Given the description of an element on the screen output the (x, y) to click on. 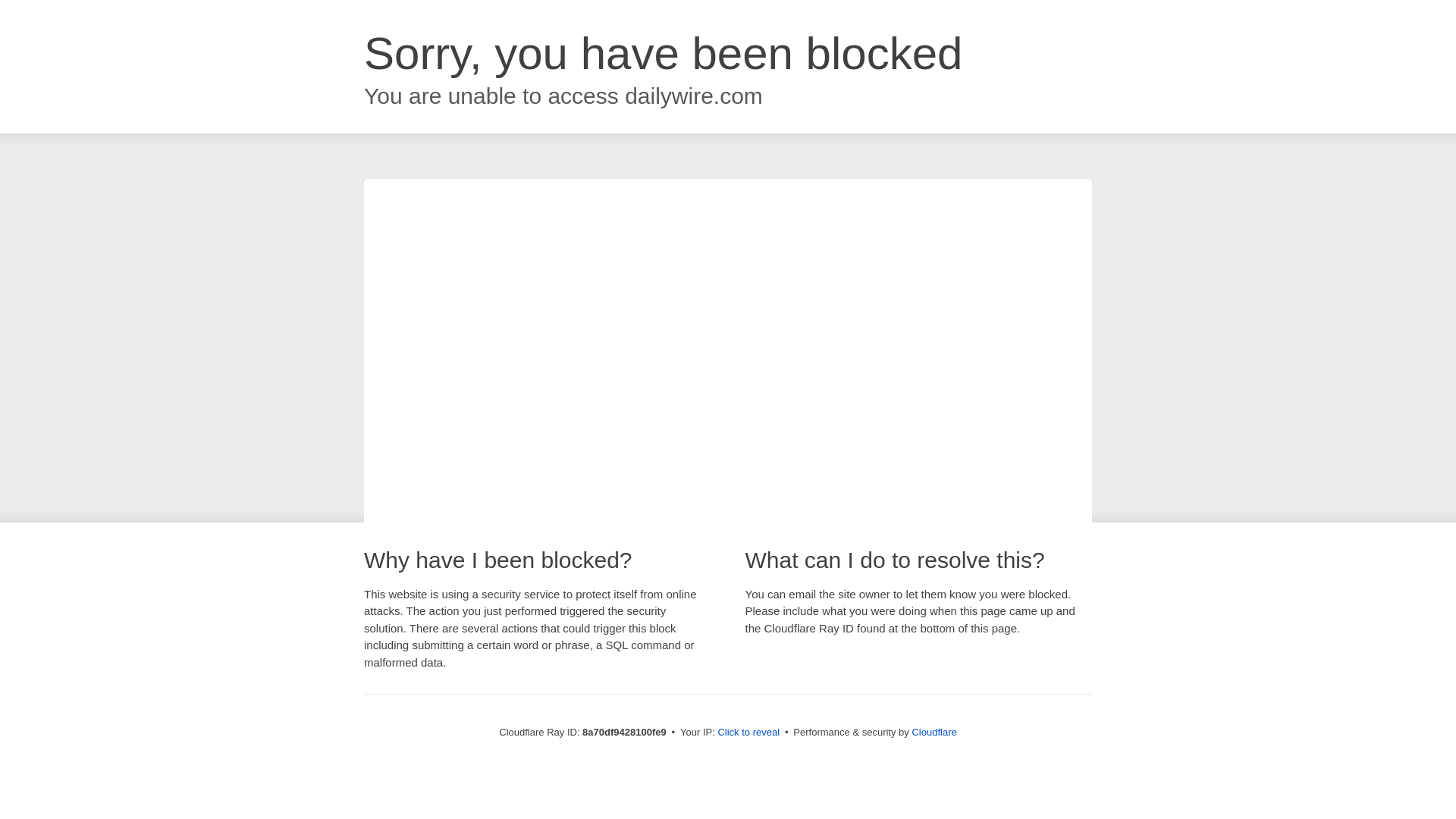
Click to reveal (747, 732)
Cloudflare (933, 731)
